Given the description of an element on the screen output the (x, y) to click on. 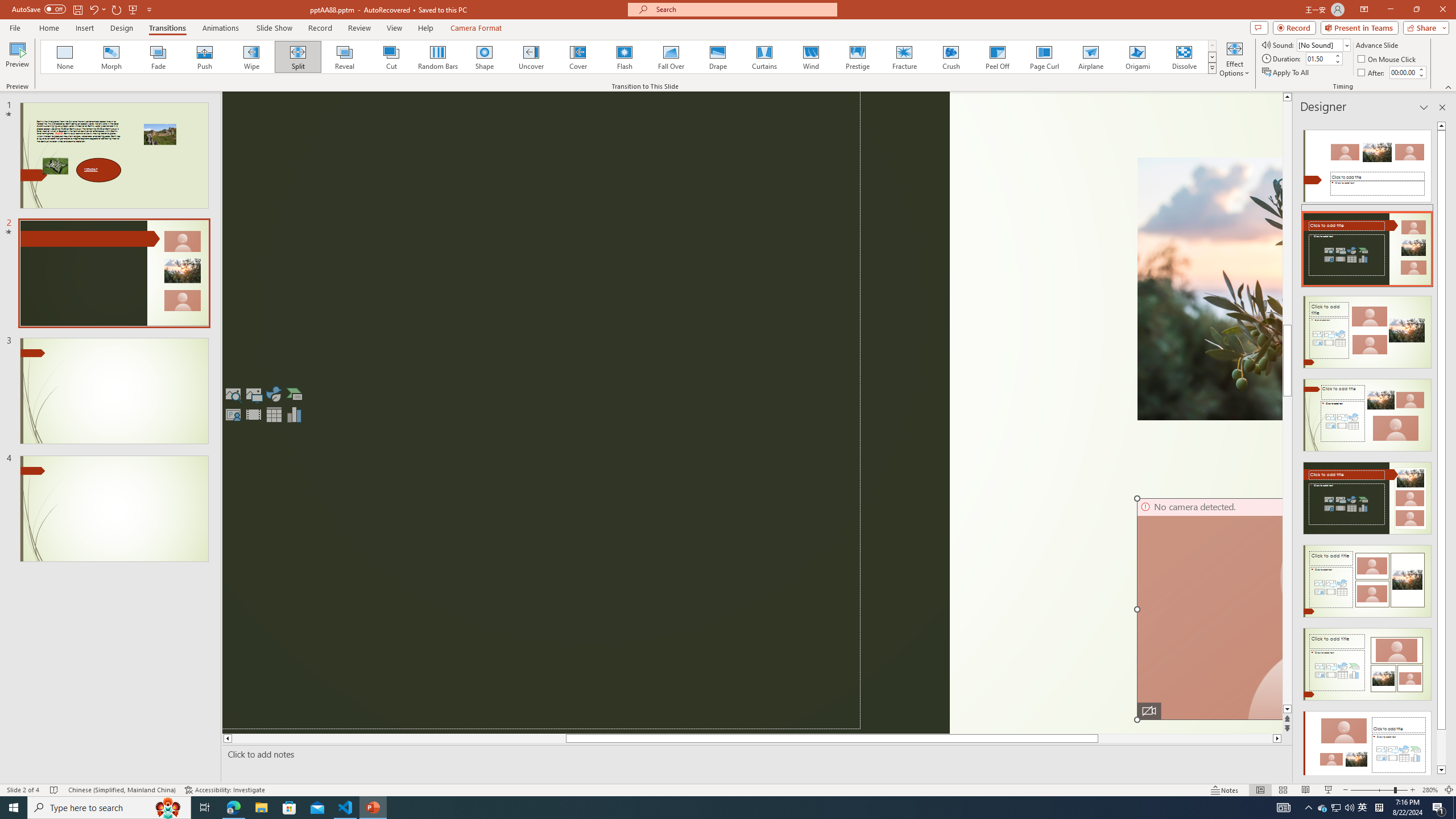
Line down (1287, 709)
After (1403, 72)
Dissolve (1183, 56)
Preview (17, 58)
None (65, 56)
Insert Cameo (232, 414)
Less (1420, 75)
Row up (1212, 45)
Decorative Locked (585, 412)
After (1372, 72)
Insert Table (273, 414)
